Given the description of an element on the screen output the (x, y) to click on. 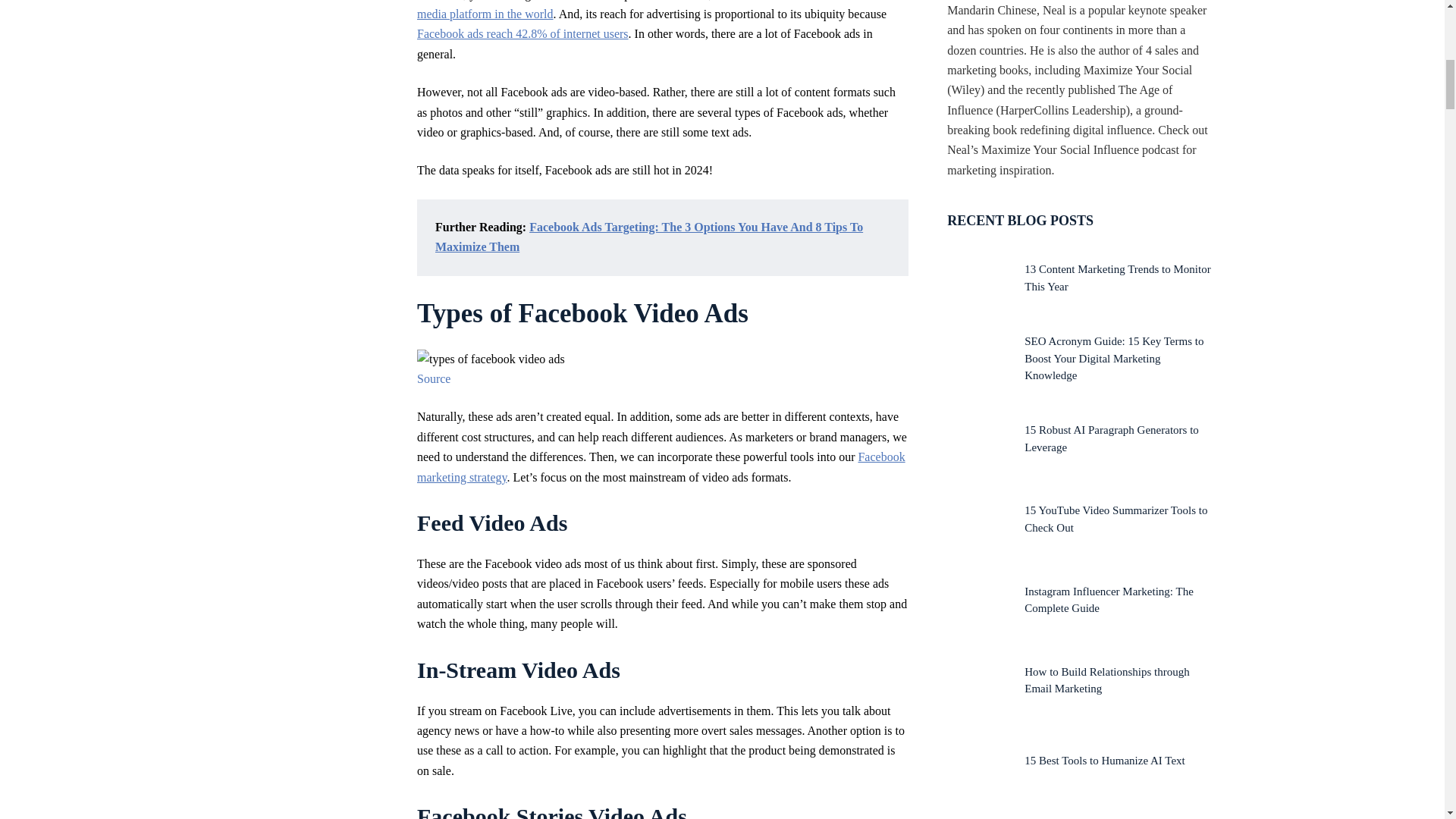
most used social media platform in the world (655, 10)
